Given the description of an element on the screen output the (x, y) to click on. 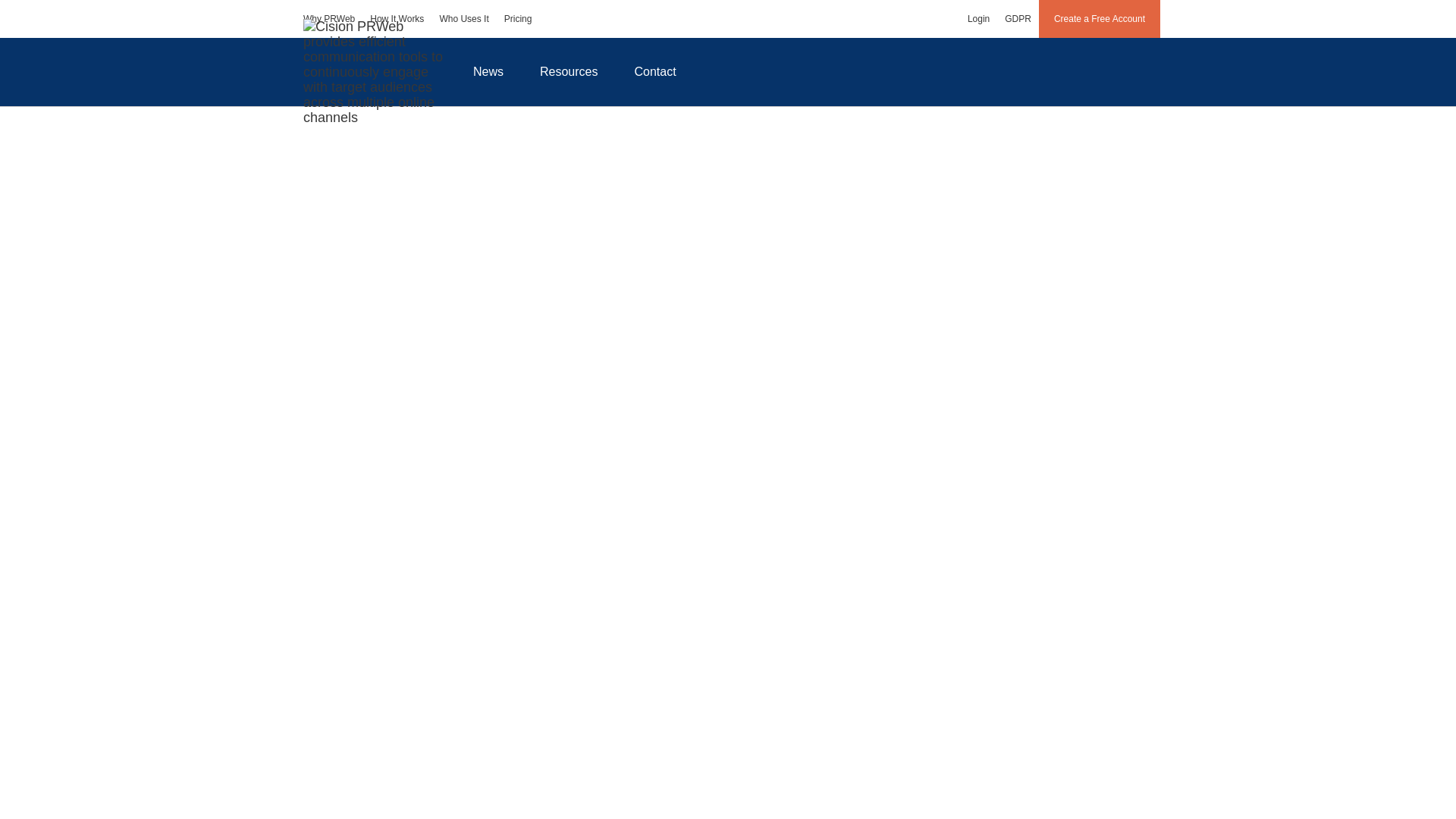
Pricing (518, 18)
Who Uses It (463, 18)
GDPR (1018, 18)
Why PRWeb (328, 18)
Login (978, 18)
Resources (568, 71)
News (487, 71)
How It Works (396, 18)
Contact (654, 71)
Create a Free Account (1099, 18)
